Given the description of an element on the screen output the (x, y) to click on. 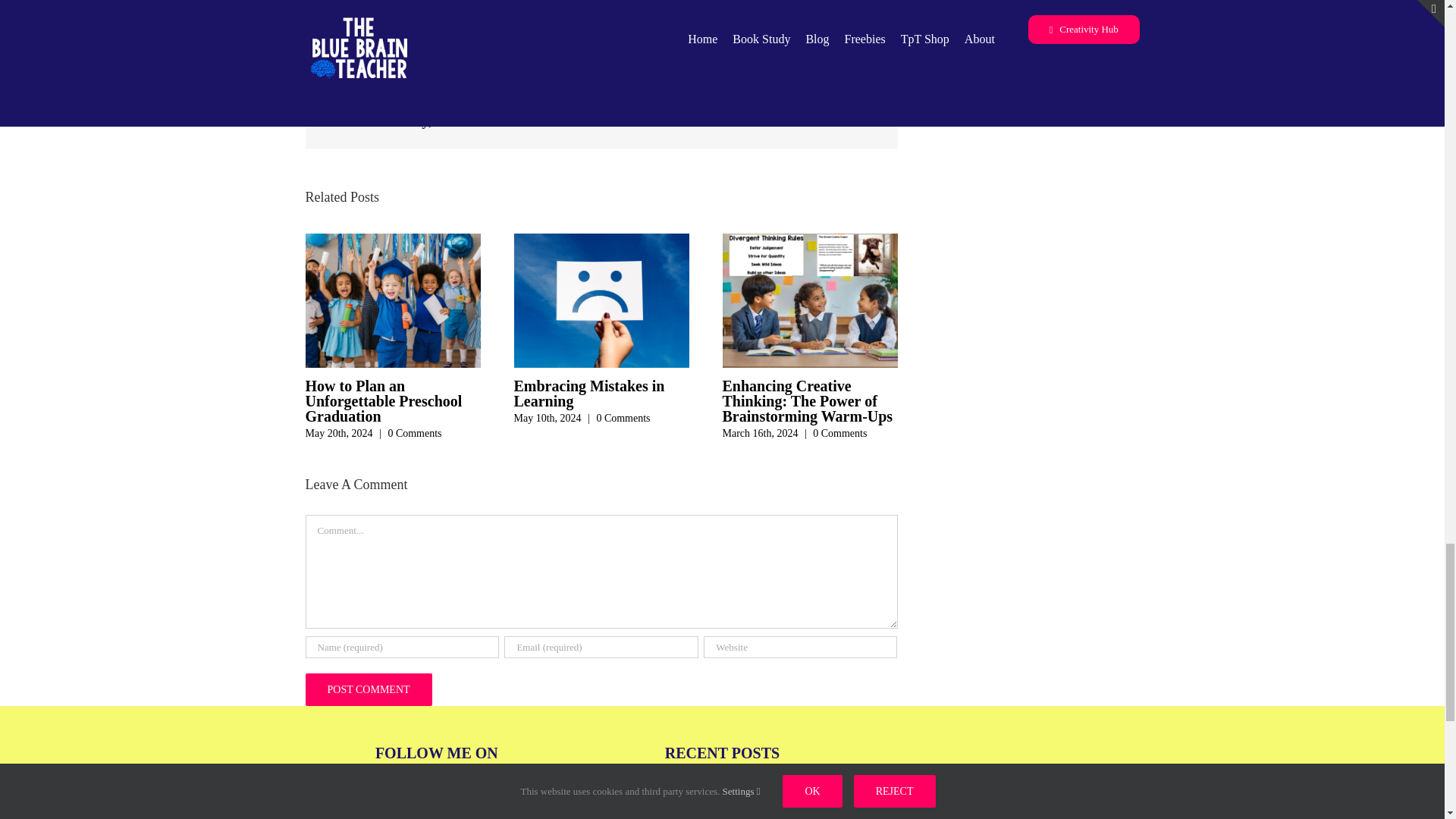
Embracing Mistakes in Learning (589, 393)
How to Plan an Unforgettable Preschool Graduation (382, 401)
Embracing Mistakes in Learning (589, 393)
Post Comment (367, 689)
How to Plan an Unforgettable Preschool Graduation (382, 401)
0 Comments (414, 432)
